Given the description of an element on the screen output the (x, y) to click on. 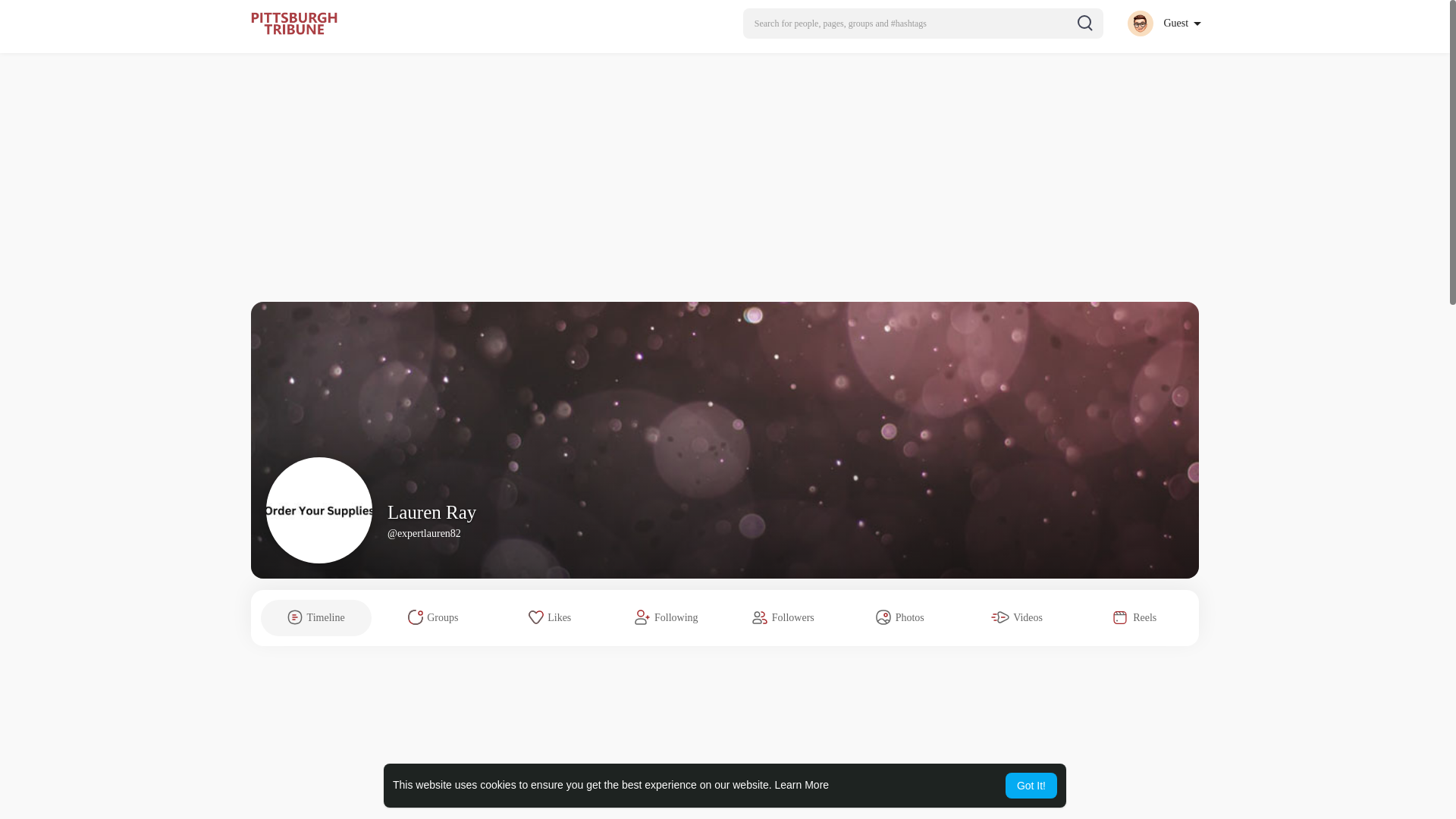
Reels (1133, 617)
Photos (899, 617)
Got It! (1031, 785)
Following (666, 617)
Timeline (315, 617)
Videos (1015, 617)
Lauren Ray (431, 512)
Groups (432, 617)
Guest (1163, 23)
Learn More (801, 784)
Followers (783, 617)
Likes (550, 617)
